Given the description of an element on the screen output the (x, y) to click on. 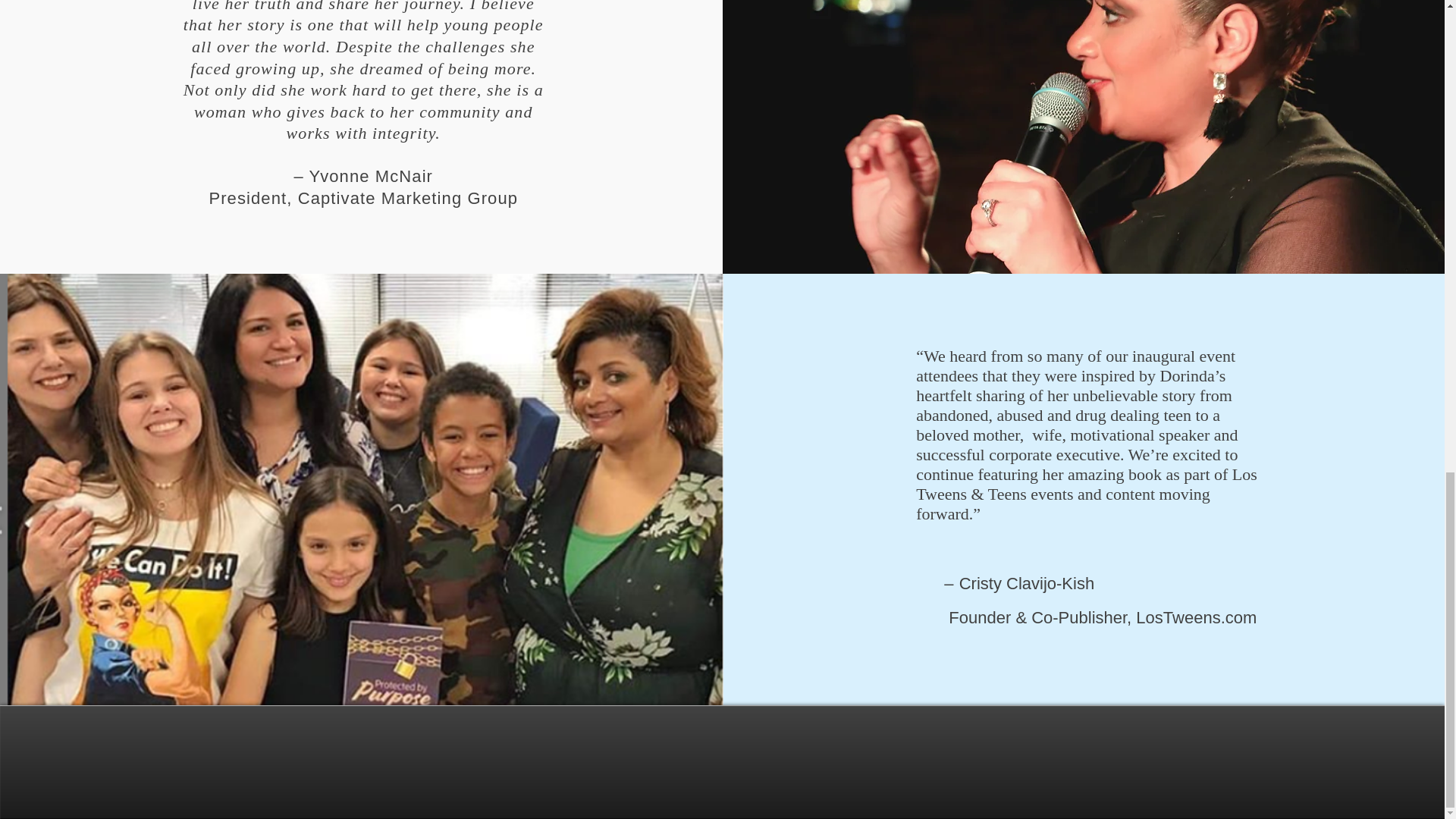
LosTweens.com (1195, 617)
